Given the description of an element on the screen output the (x, y) to click on. 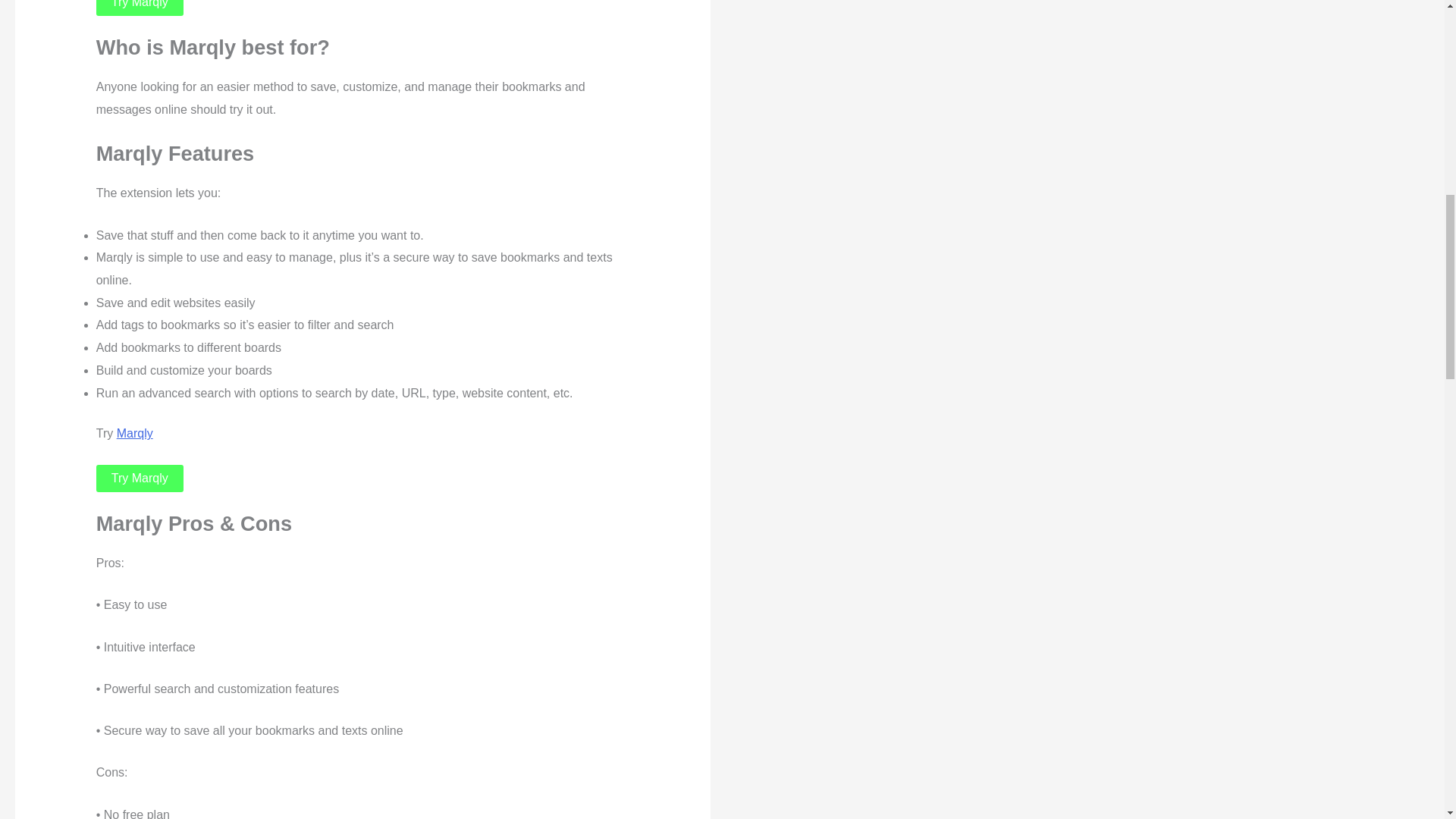
Try Marqly (139, 7)
Marqly (134, 432)
Try Marqly (139, 478)
